Given the description of an element on the screen output the (x, y) to click on. 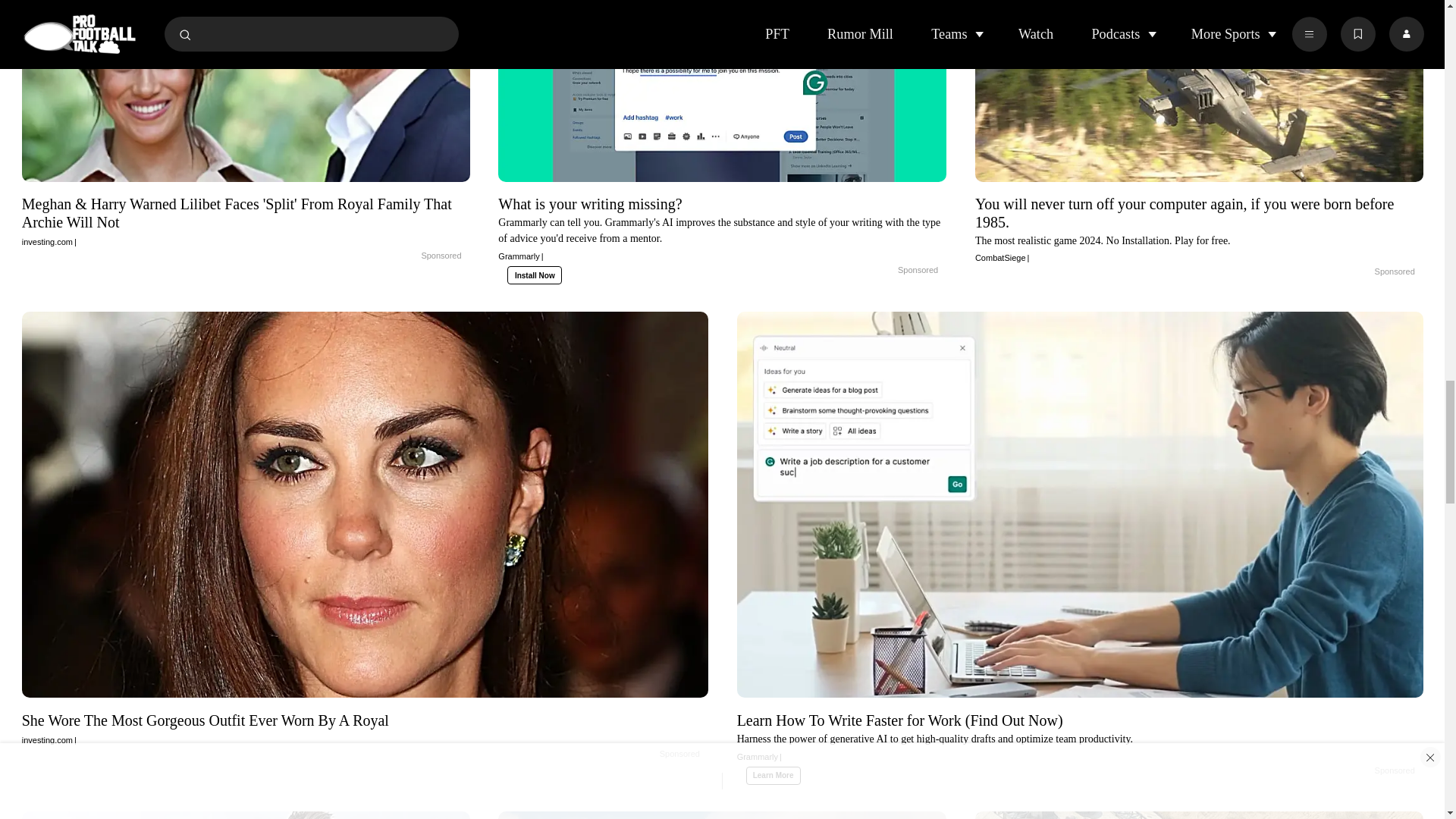
What is your writing missing? (721, 95)
What is your writing missing? (721, 228)
What is your writing missing? (882, 270)
